Given the description of an element on the screen output the (x, y) to click on. 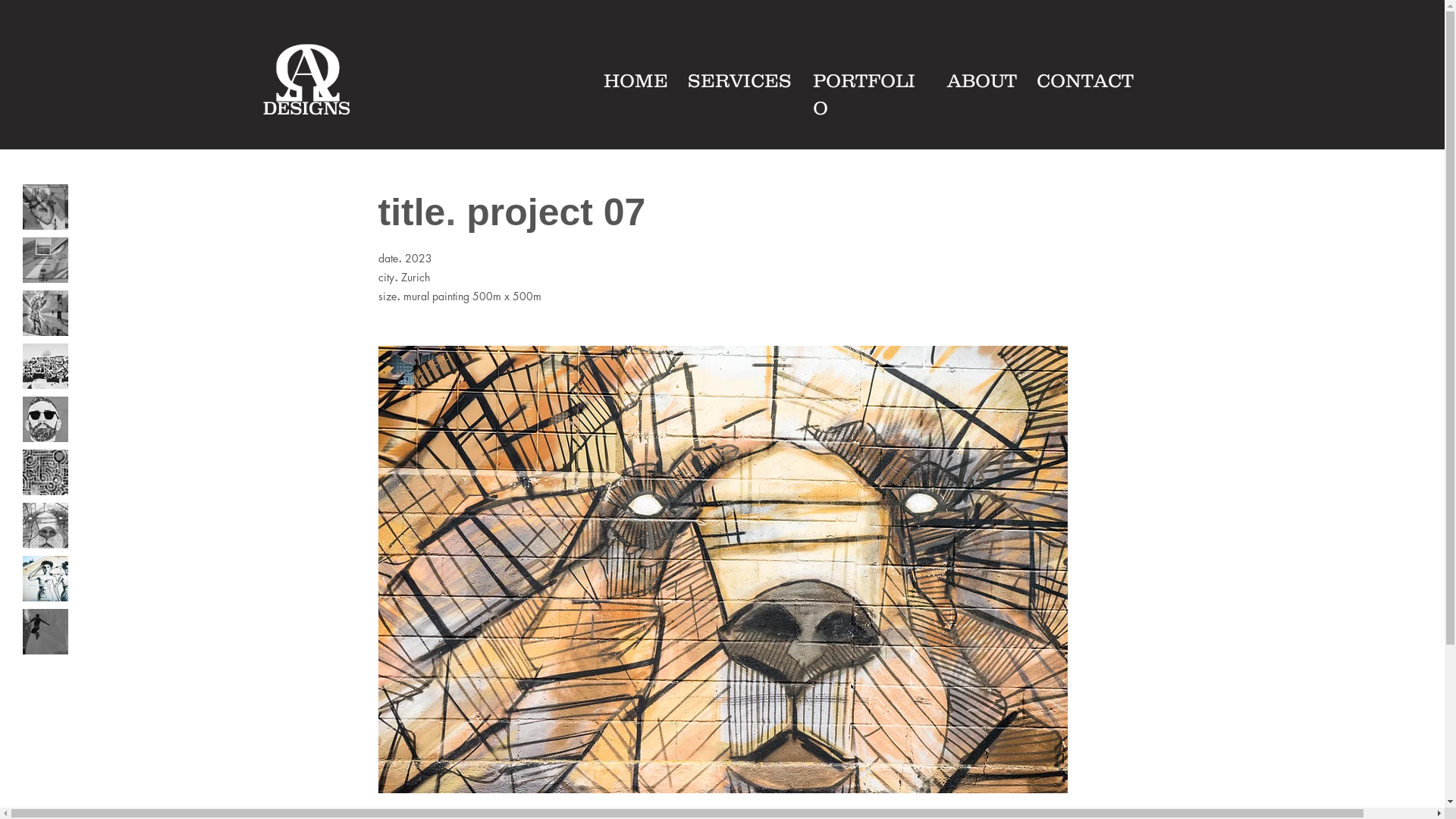
PORTFOLIO Element type: text (863, 93)
SERVICES Element type: text (738, 79)
HOME Element type: text (635, 80)
ABOUT Element type: text (981, 80)
CONTACT Element type: text (1083, 80)
